Given the description of an element on the screen output the (x, y) to click on. 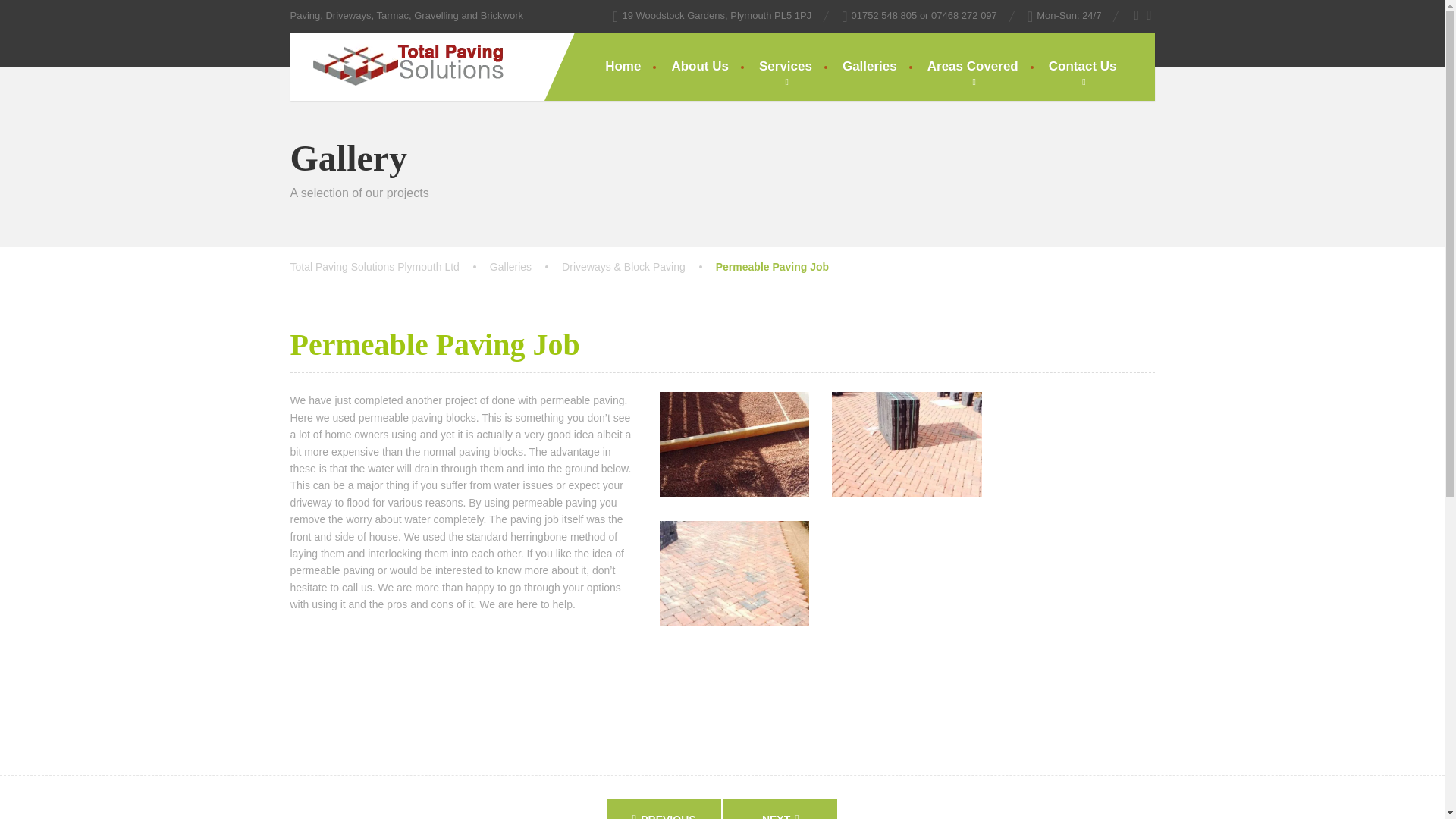
Total Paving Solutions Plymouth Ltd (389, 266)
Services (785, 66)
Go to Total Paving Solutions Plymouth Ltd. (389, 266)
01752 548 805 (884, 15)
Galleries (525, 266)
Home (622, 66)
Areas Covered (972, 66)
07468 272 097 (964, 15)
Contact Us (1082, 66)
About Us (700, 66)
